Given the description of an element on the screen output the (x, y) to click on. 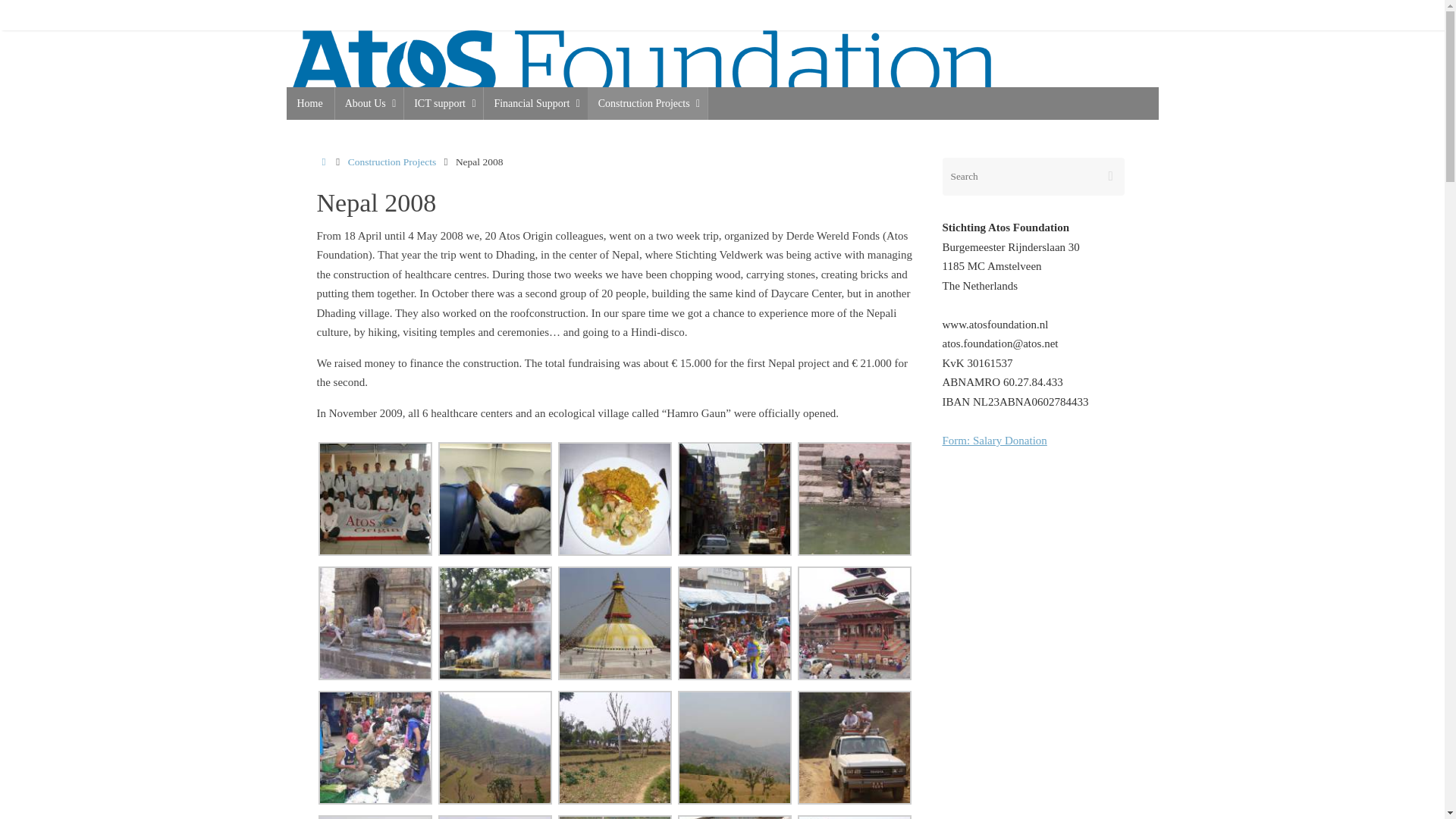
About Us (368, 102)
Financial Support (534, 102)
Atos Foundation (641, 64)
Home (310, 102)
Construction Projects (647, 102)
ICT support (443, 102)
